Given the description of an element on the screen output the (x, y) to click on. 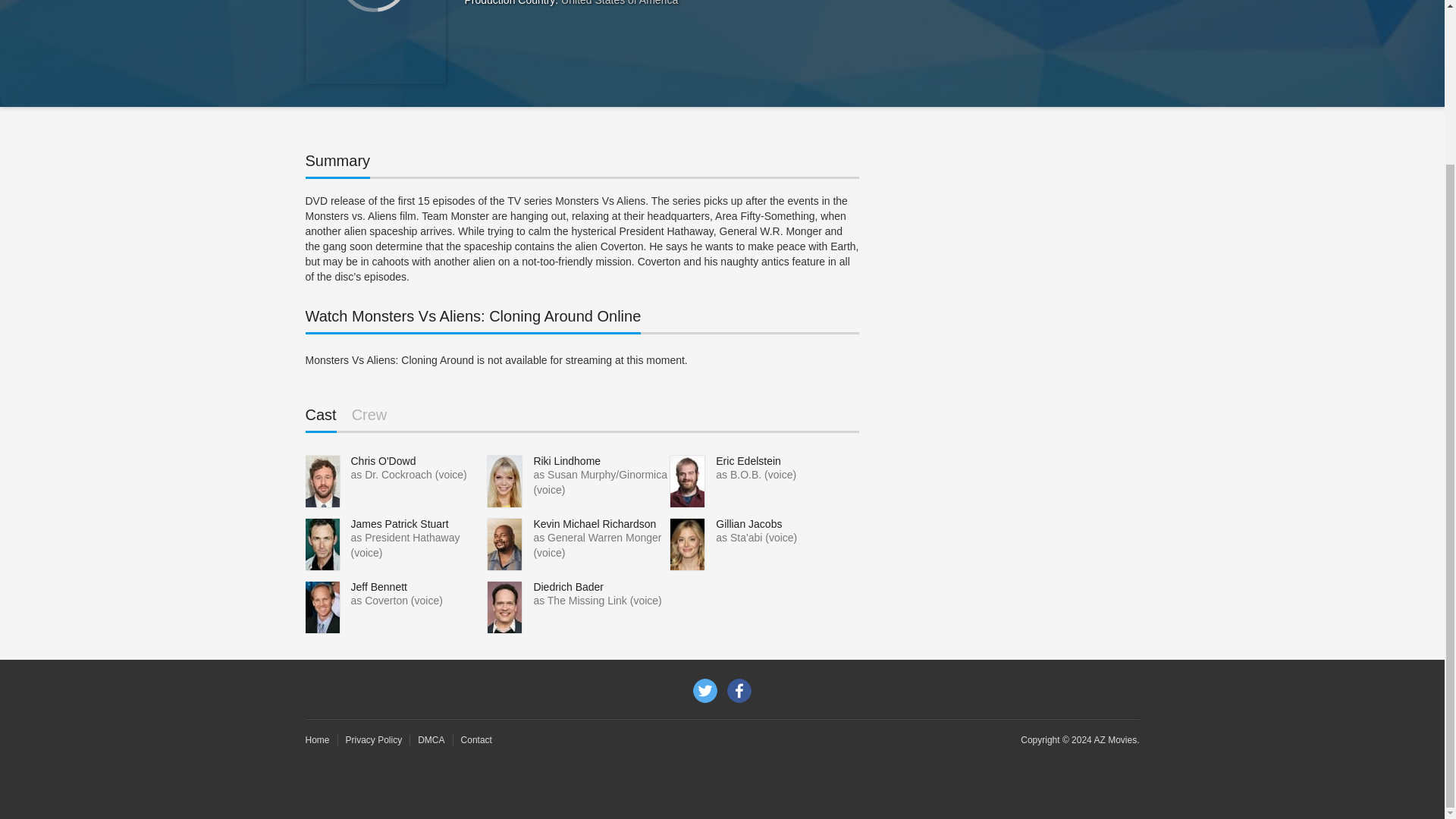
Riki Lindhome (565, 460)
Cast (320, 419)
Crew (369, 418)
Chris O'Dowd (382, 460)
